Given the description of an element on the screen output the (x, y) to click on. 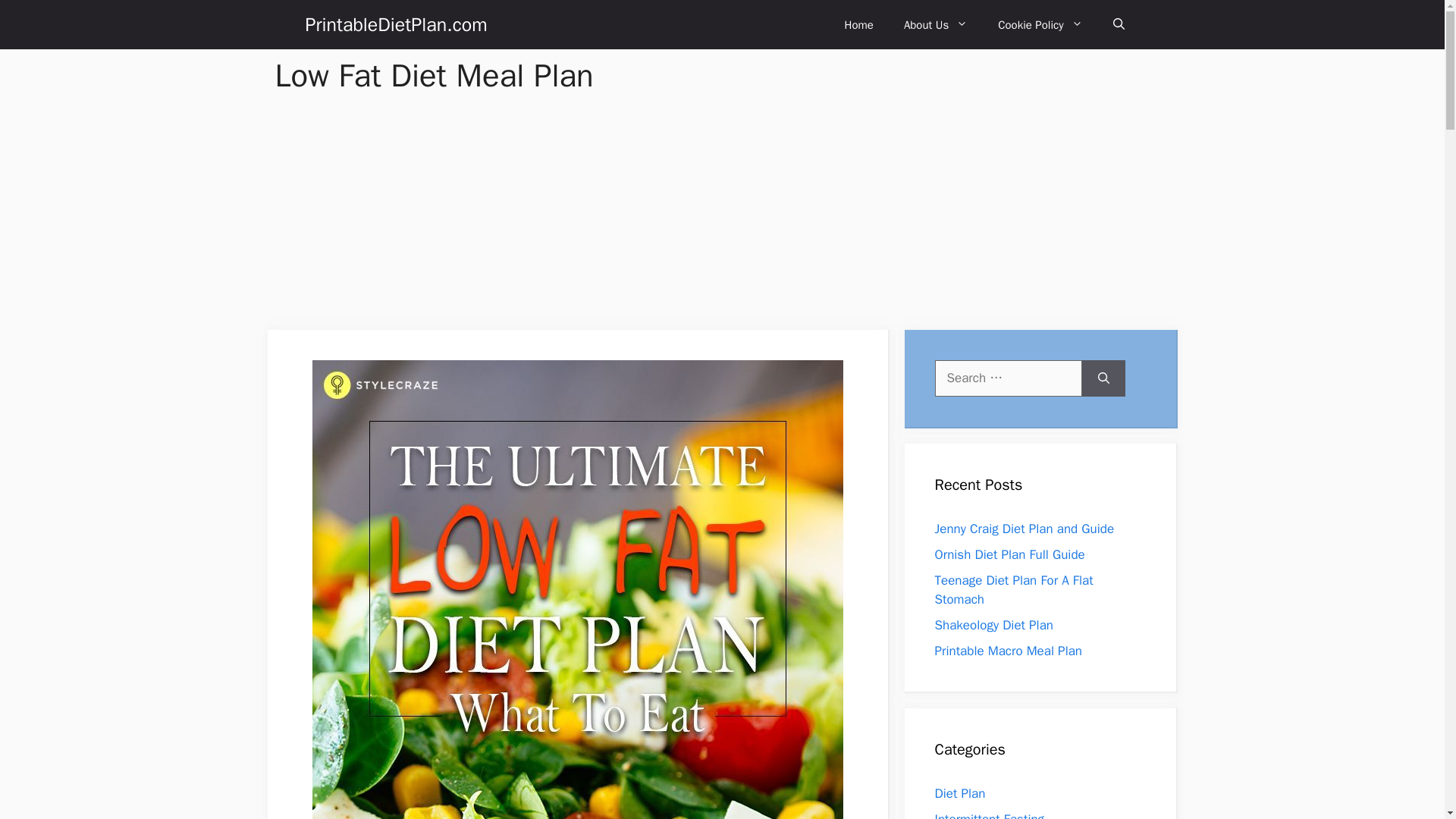
Teenage Diet Plan For A Flat Stomach (1013, 590)
Search for: (1007, 378)
Shakeology Diet Plan (993, 625)
Ornish Diet Plan Full Guide (1009, 554)
Printable Macro Meal Plan (1007, 650)
Cookie Policy (1039, 23)
Home (858, 23)
About Us (935, 23)
PrintableDietPlan.com (395, 24)
